Given the description of an element on the screen output the (x, y) to click on. 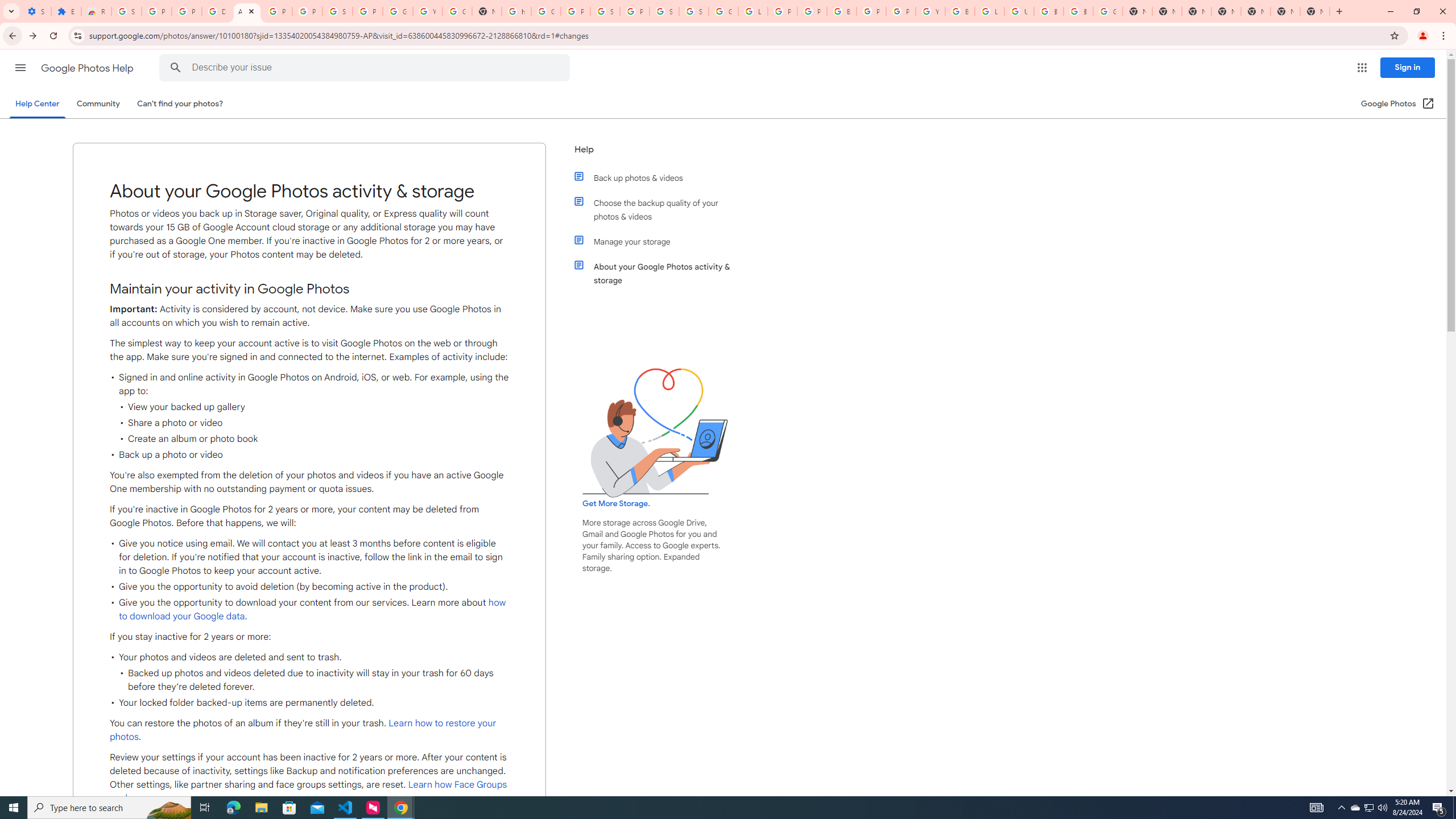
YouTube (426, 11)
Sign in - Google Accounts (693, 11)
Sign in - Google Accounts (664, 11)
Learn how to restore your photos (302, 729)
Google Account (397, 11)
https://scholar.google.com/ (515, 11)
how to download your Google data (312, 609)
